Given the description of an element on the screen output the (x, y) to click on. 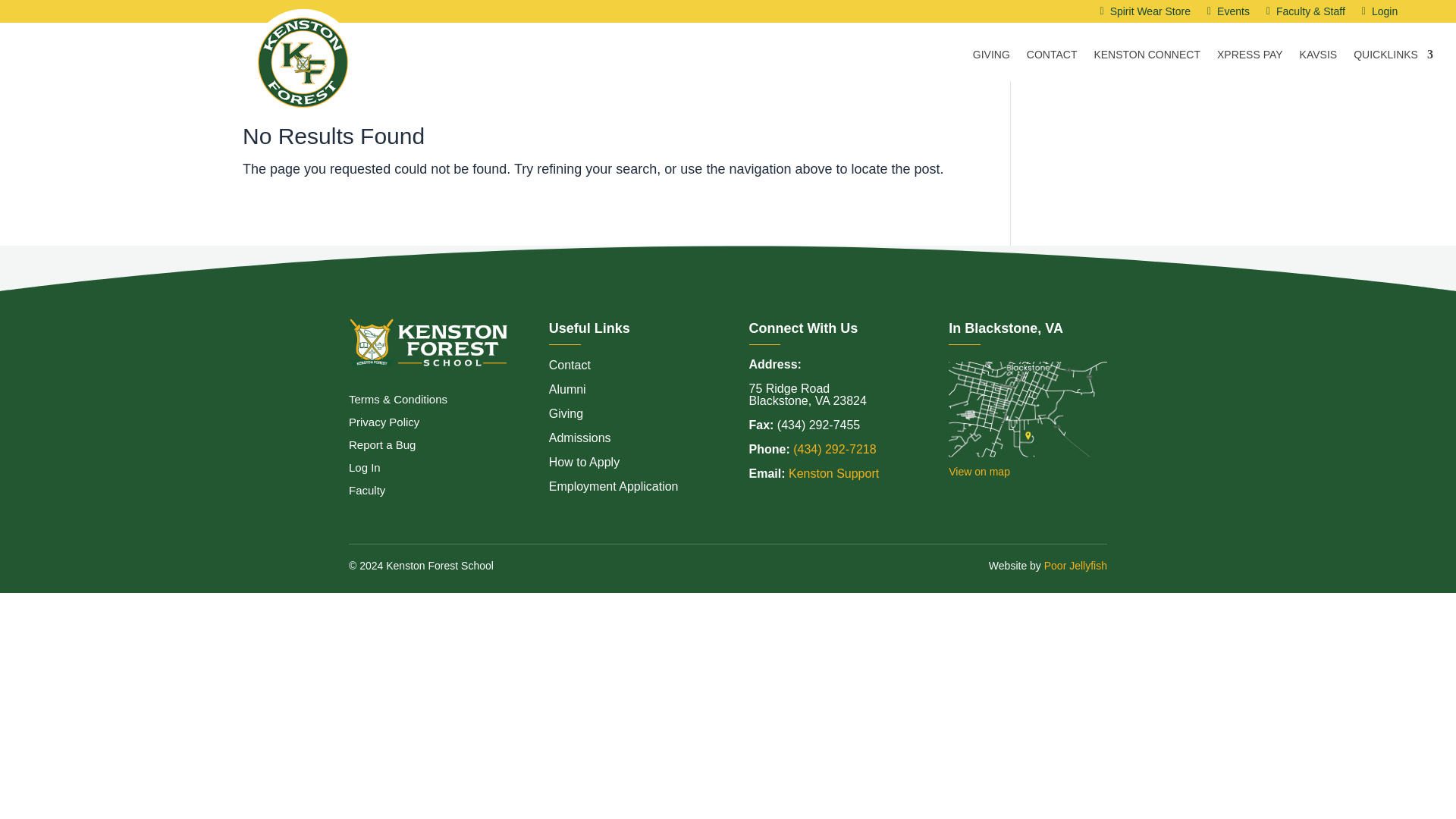
KENSTON CONNECT (1146, 57)
XPRESS PAY (1249, 57)
CONTACT (1051, 57)
Kenston Forest School logo white (427, 342)
Login (1384, 13)
Events (1233, 13)
QUICKLINKS (1393, 57)
KAVSIS (1319, 57)
Spirit Wear Store (1150, 13)
Kenston logo round white border (303, 62)
